Given the description of an element on the screen output the (x, y) to click on. 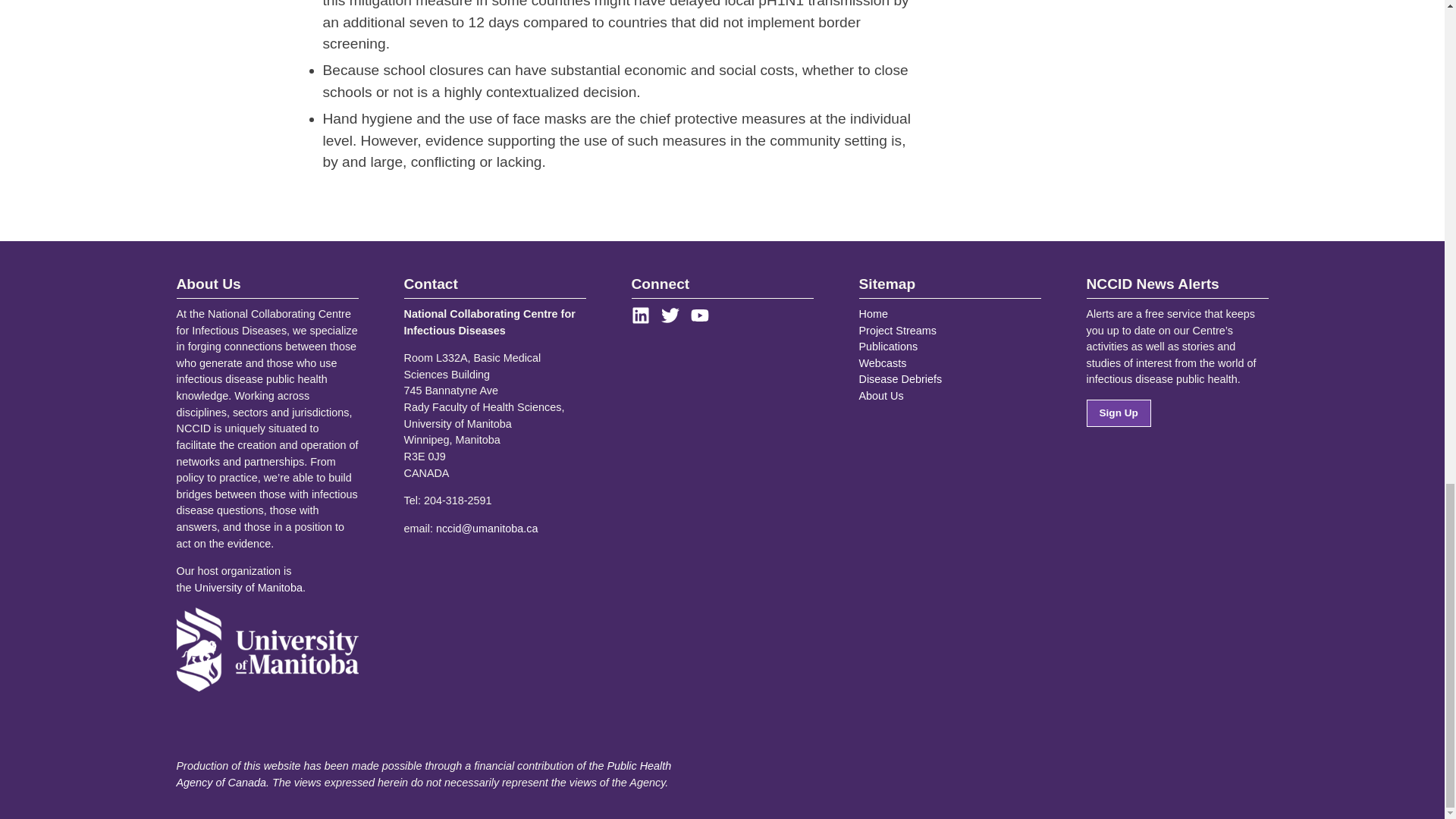
Project Streams (897, 330)
Public Health Agency of Canada (423, 774)
Sign Up (1118, 412)
Publications (888, 346)
Home (872, 313)
Webcasts (882, 363)
University of Manitoba (248, 587)
Disease Debriefs (900, 378)
About Us (880, 395)
